Given the description of an element on the screen output the (x, y) to click on. 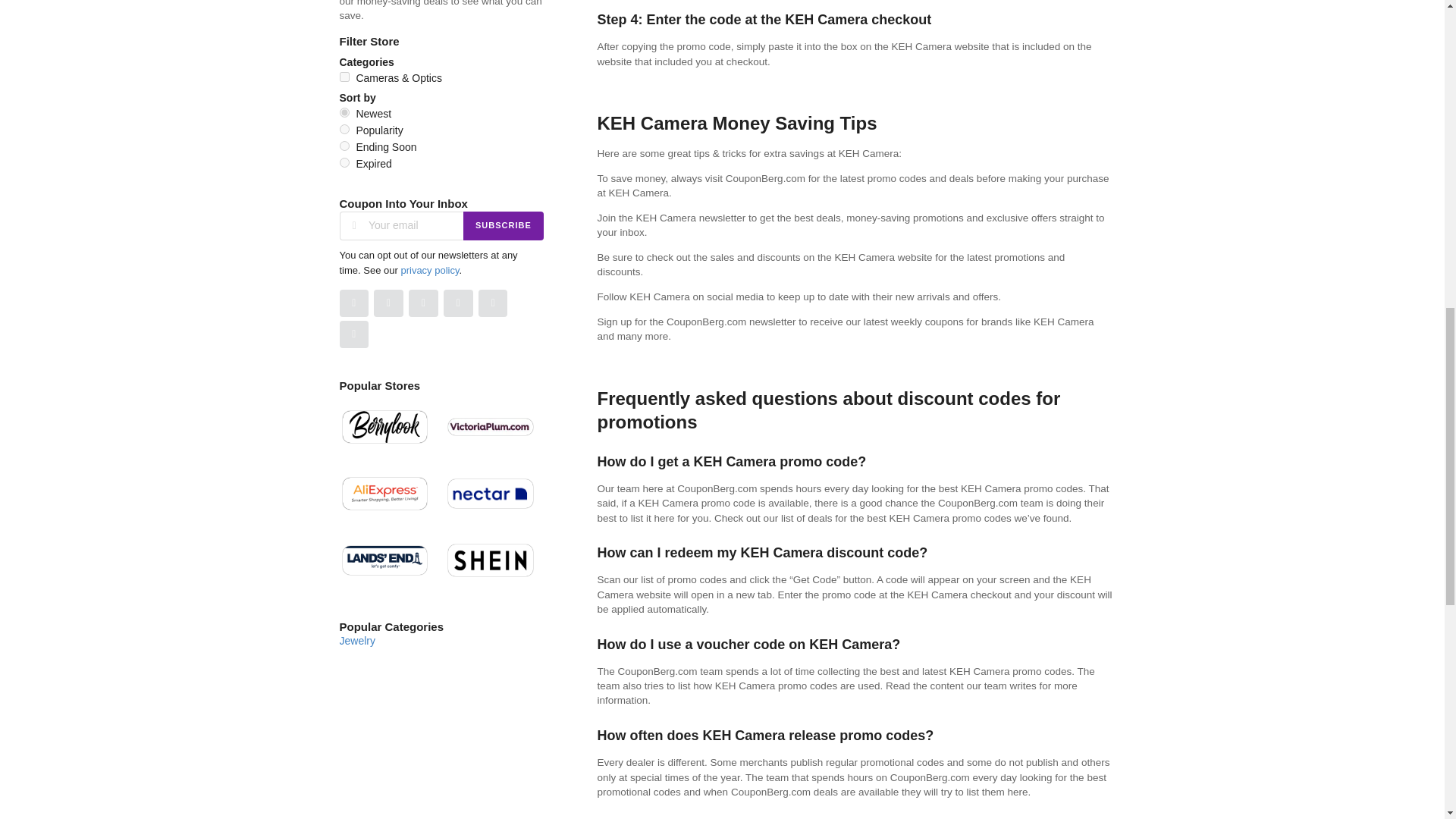
cameras-and-optics (344, 76)
popularity (344, 129)
ending-soon (344, 145)
newest (344, 112)
expired (344, 162)
